Given the description of an element on the screen output the (x, y) to click on. 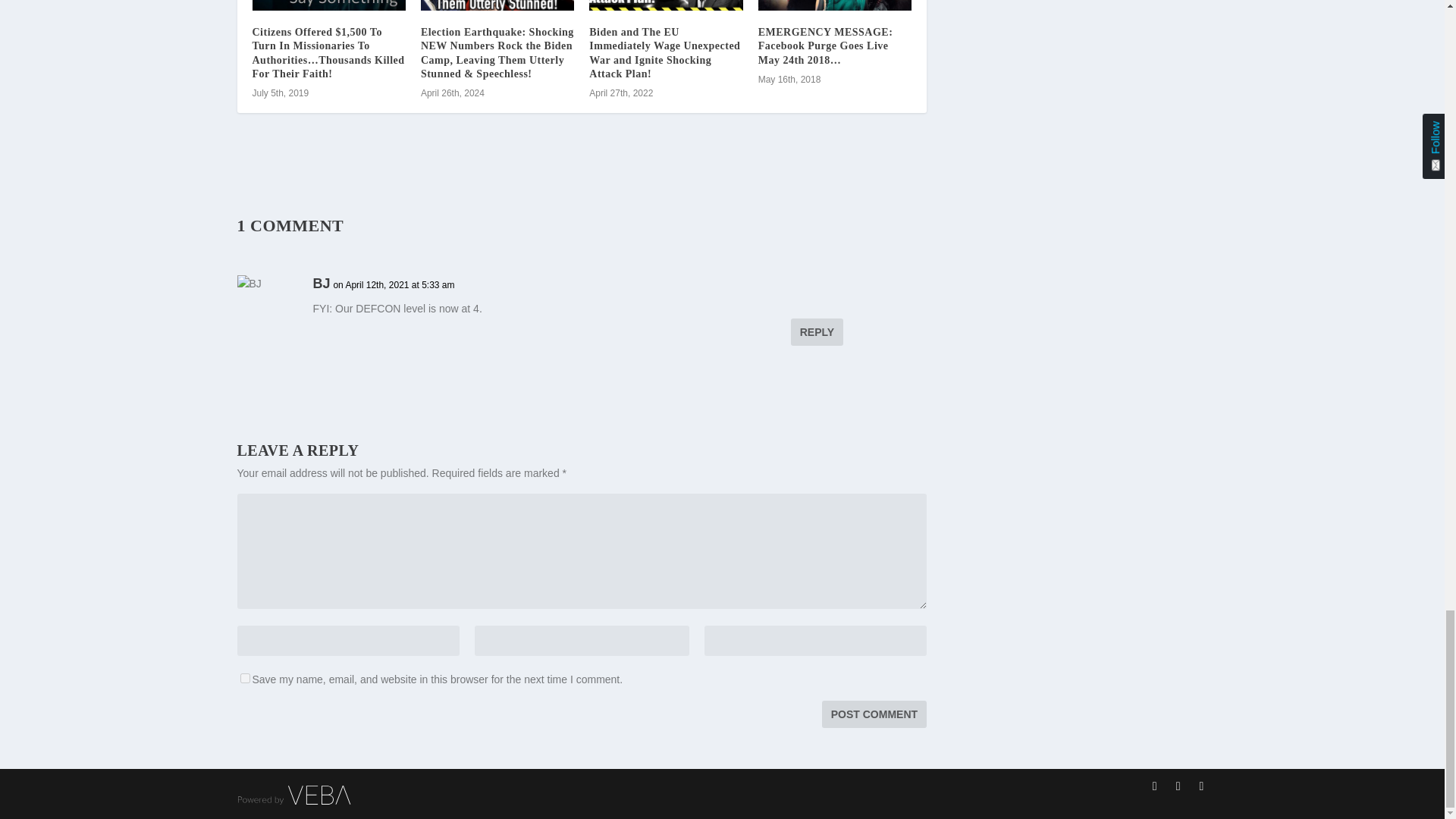
yes (244, 678)
Post Comment (874, 714)
